Given the description of an element on the screen output the (x, y) to click on. 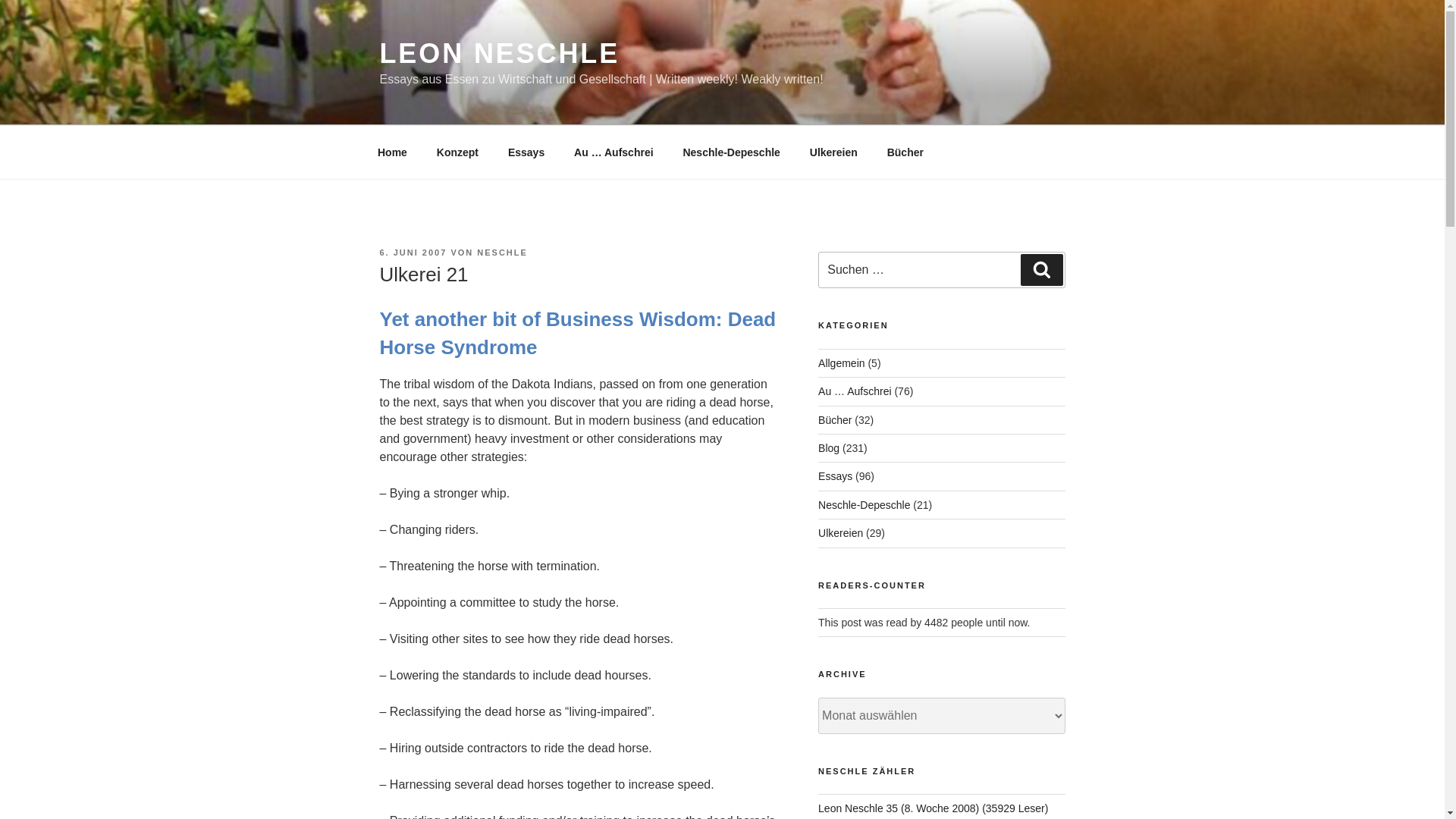
Ulkereien (833, 151)
NESCHLE (502, 252)
Neschle-Depeschle (864, 504)
Essays (834, 476)
Suchen (1041, 269)
Essays (526, 151)
Home (392, 151)
LEON NESCHLE (499, 52)
Allgemein (841, 363)
Blog (829, 448)
Neschle-Depeschle (731, 151)
Ulkereien (840, 532)
6. JUNI 2007 (412, 252)
Konzept (457, 151)
